Given the description of an element on the screen output the (x, y) to click on. 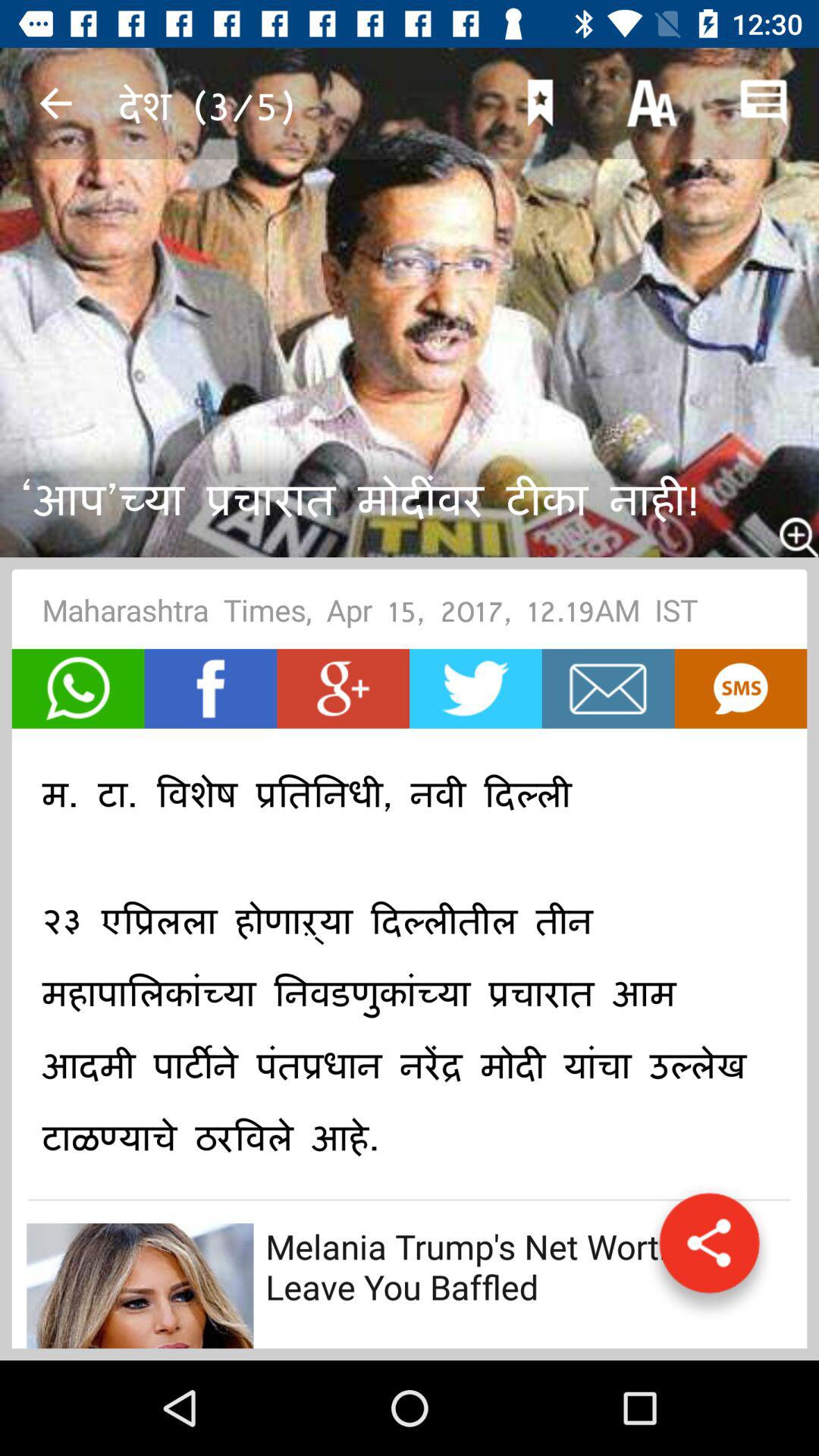
send a simple message service or send a text message (740, 688)
